Given the description of an element on the screen output the (x, y) to click on. 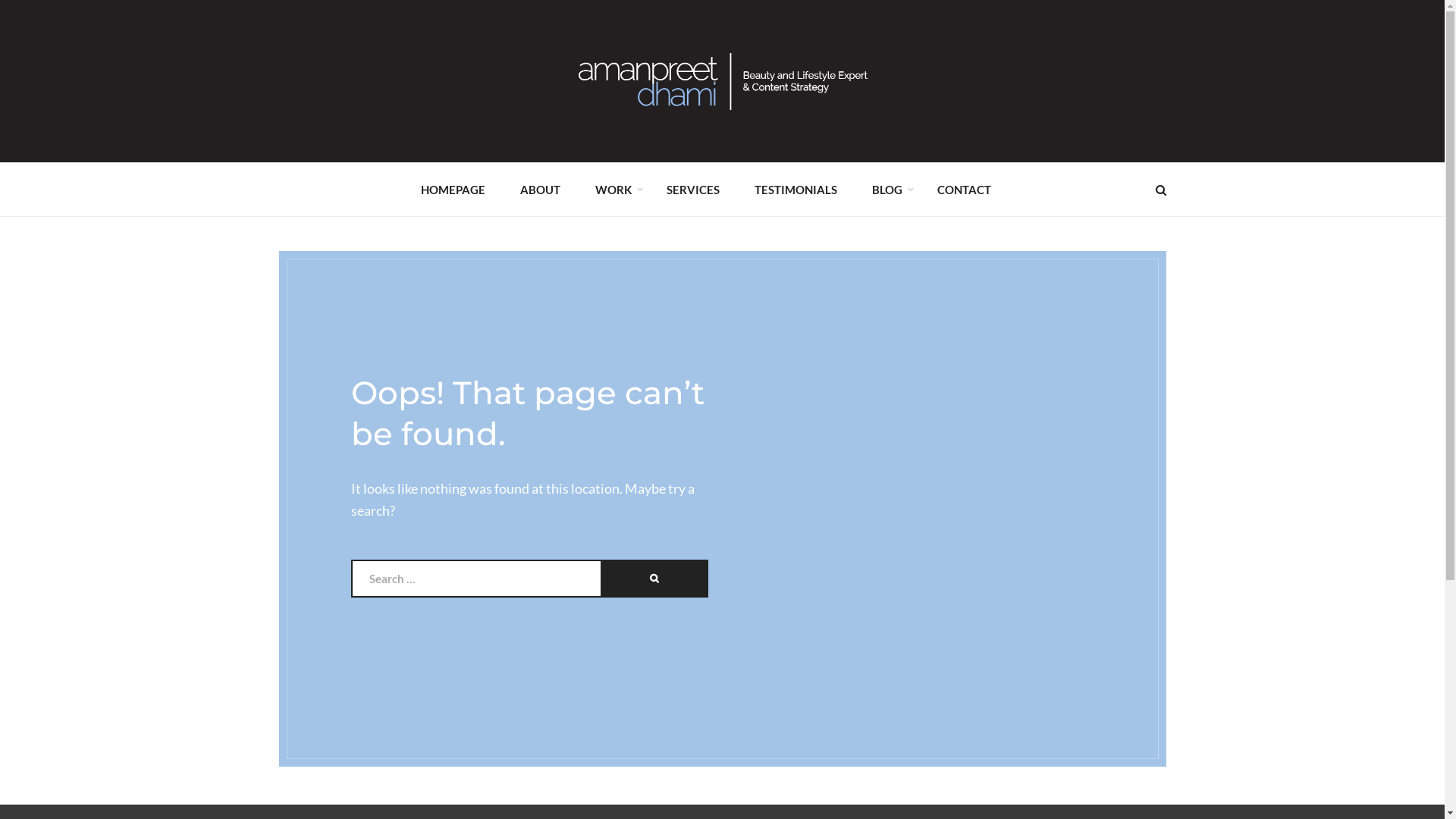
SERVICES Element type: text (691, 188)
ABOUT Element type: text (540, 188)
TESTIMONIALS Element type: text (794, 188)
BLOG Element type: text (887, 188)
WORK Element type: text (612, 188)
CONTACT Element type: text (964, 188)
HOMEPAGE Element type: text (452, 188)
